Given the description of an element on the screen output the (x, y) to click on. 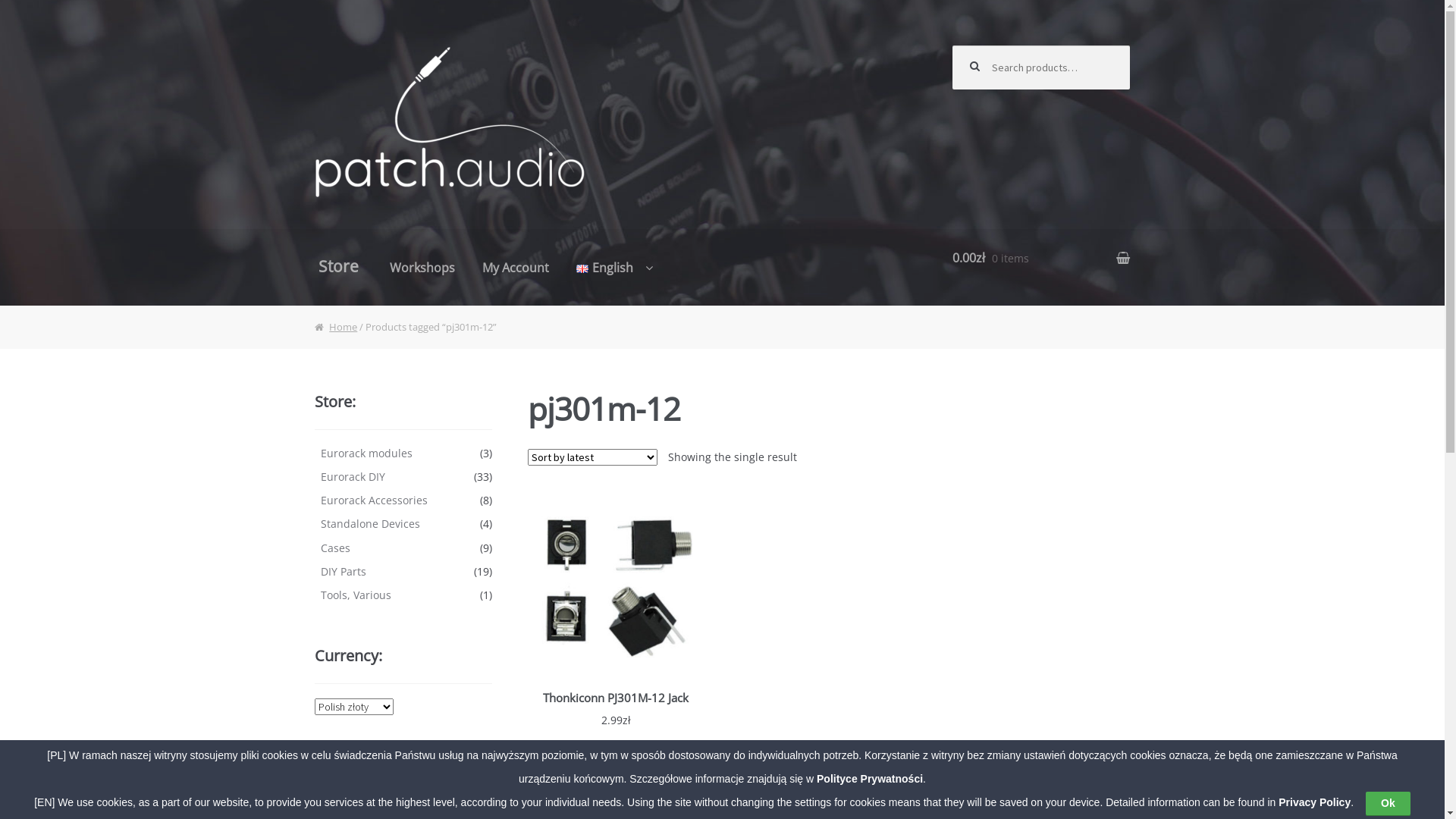
Standalone Devices Element type: text (370, 523)
Store Element type: text (338, 267)
Tools, Various Element type: text (355, 594)
Home Element type: text (335, 326)
Skip to content Element type: text (357, 41)
Eurorack modules Element type: text (366, 452)
English Element type: text (614, 268)
Add to basket Element type: text (616, 755)
Workshops Element type: text (422, 268)
Cases Element type: text (335, 547)
DIY Parts Element type: text (343, 571)
My Account Element type: text (515, 268)
Search Element type: text (984, 60)
Eurorack Accessories Element type: text (373, 499)
Ok Element type: text (1387, 802)
Skip to navigation Element type: text (365, 41)
Eurorack DIY Element type: text (352, 476)
